Given the description of an element on the screen output the (x, y) to click on. 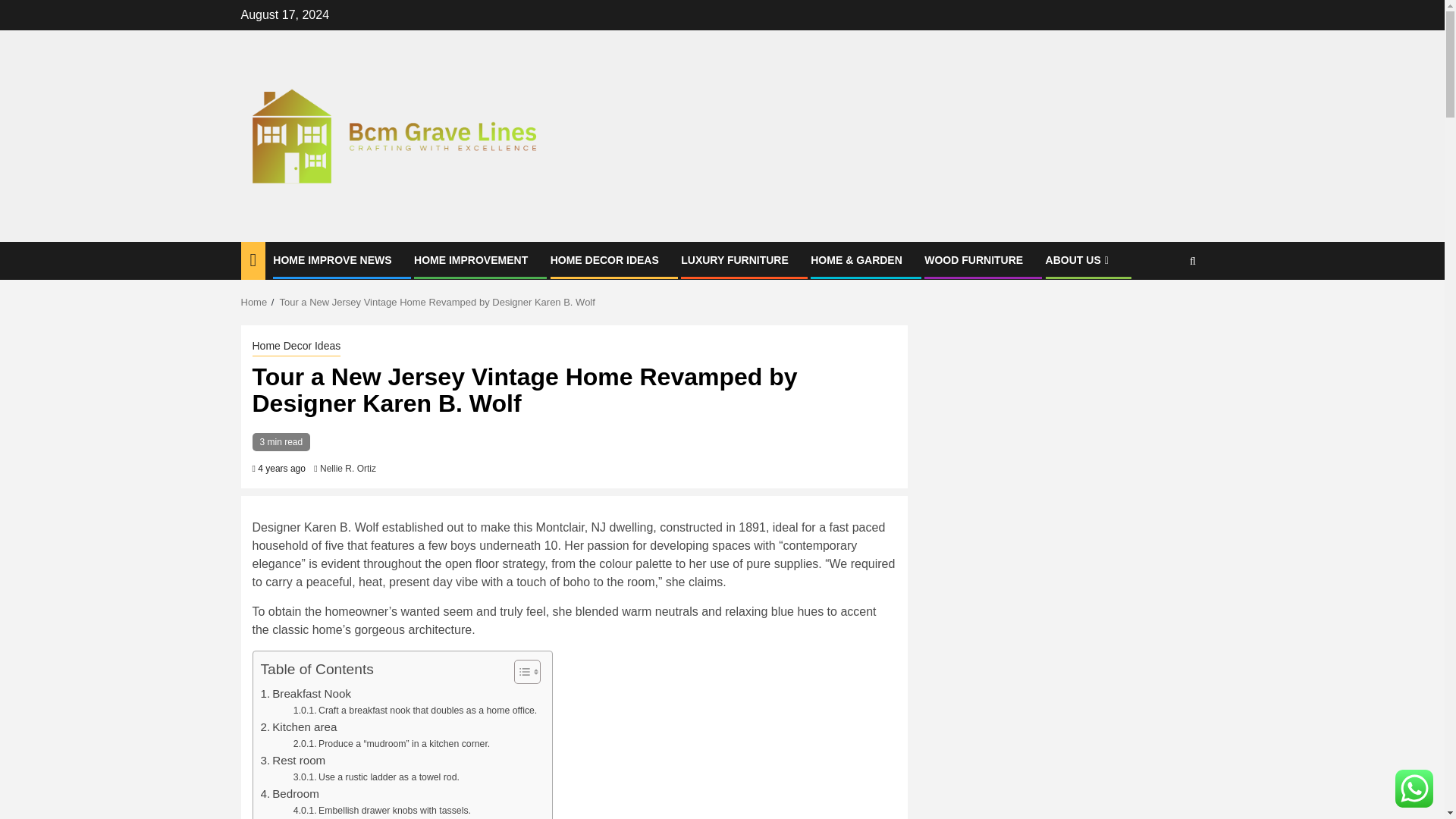
Embellish drawer knobs with tassels. (382, 811)
HOME IMPROVE NEWS (332, 259)
Kitchen area (298, 727)
HOME IMPROVEMENT (470, 259)
Use a rustic ladder as a towel rod. (377, 777)
Embellish drawer knobs with tassels. (382, 811)
Craft a breakfast nook that doubles as a home office. (415, 711)
Craft a breakfast nook that doubles as a home office. (415, 711)
